Given the description of an element on the screen output the (x, y) to click on. 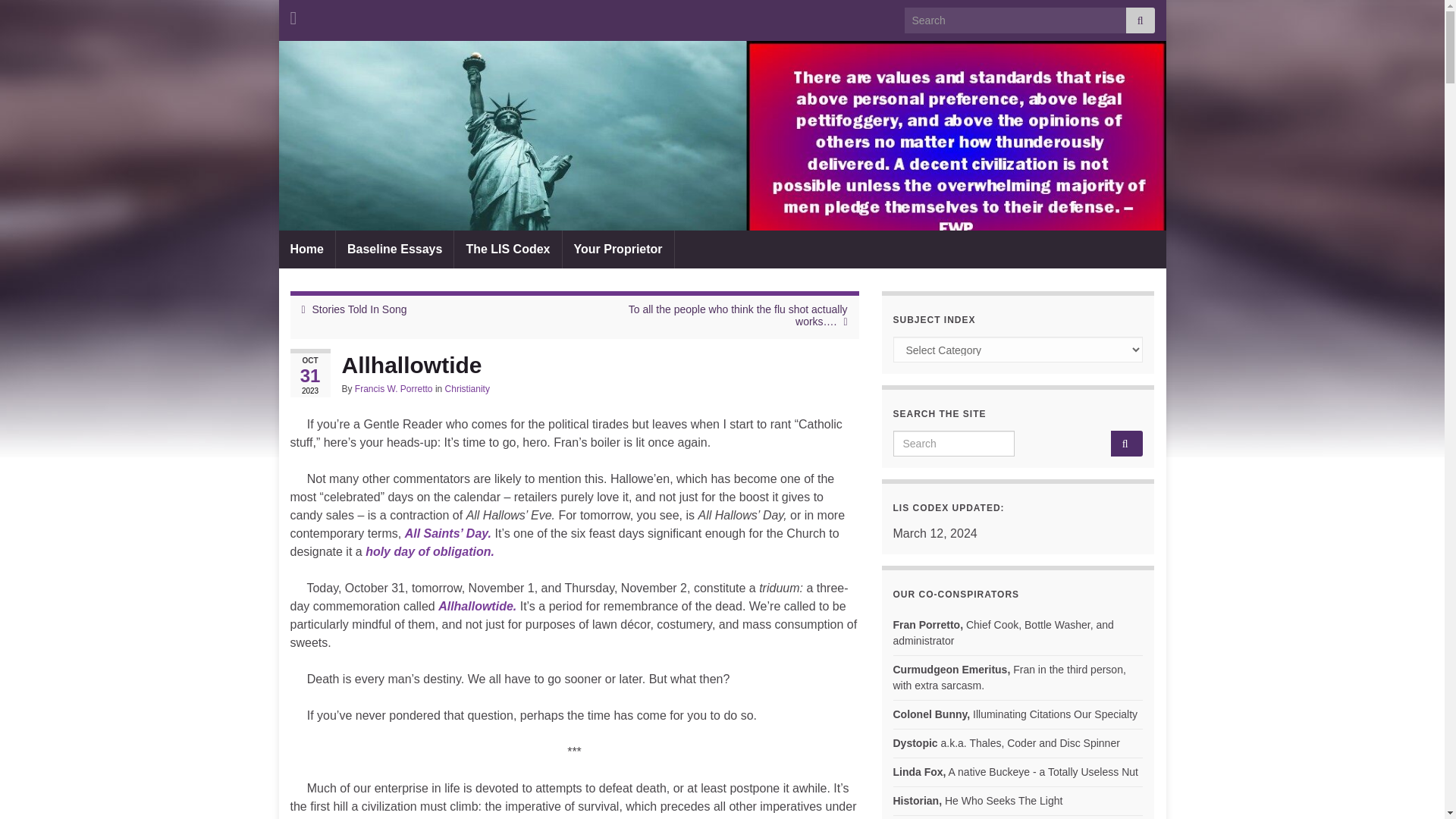
Baseline Essays (394, 249)
Stories Told In Song (360, 309)
Your Proprietor (618, 249)
Allhallowtide. (477, 605)
holy day of obligation. (430, 551)
The LIS Codex (507, 249)
Home (306, 249)
Francis W. Porretto (393, 388)
Christianity (467, 388)
